Given the description of an element on the screen output the (x, y) to click on. 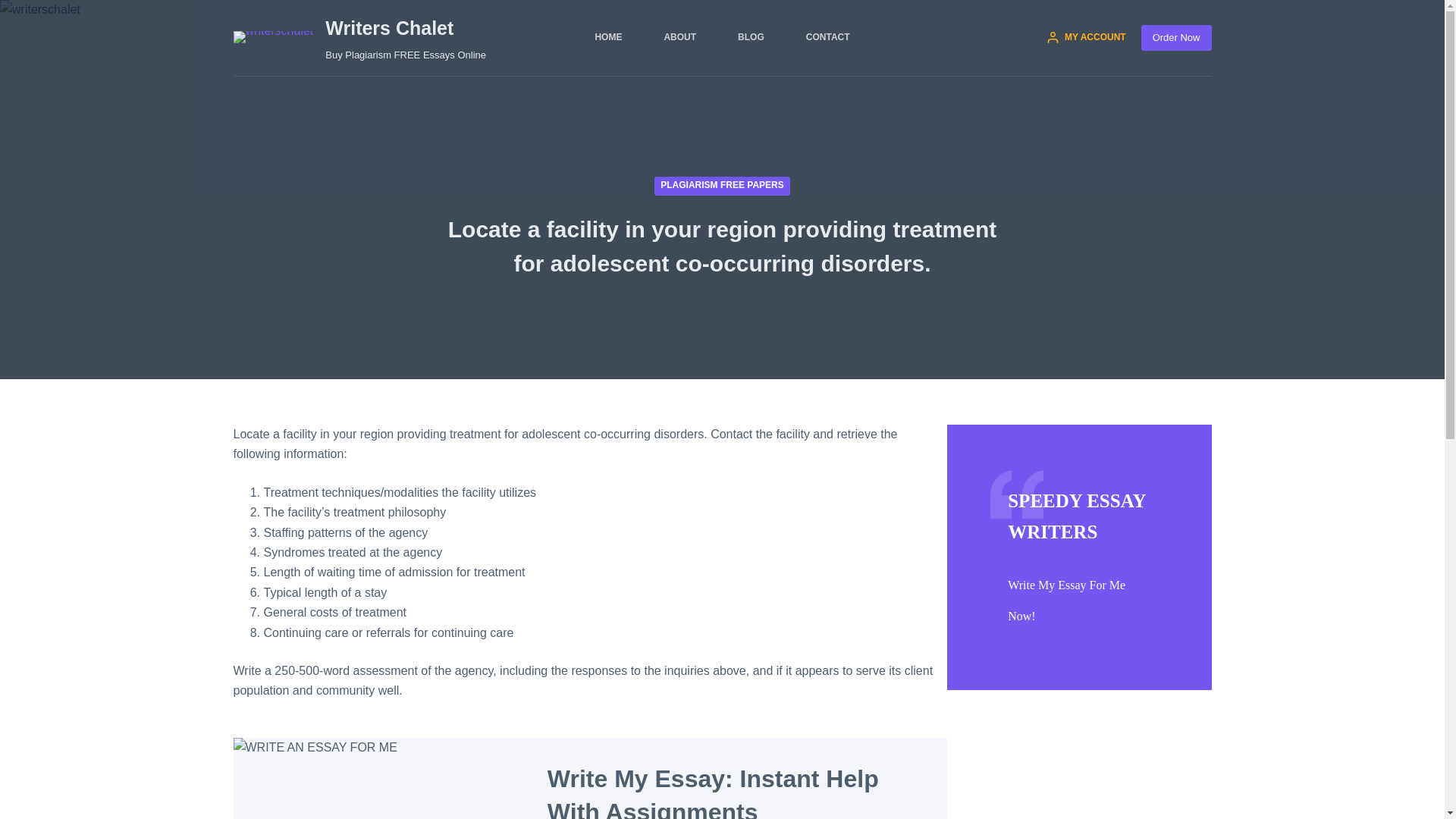
Skip to content (15, 7)
ABOUT (680, 38)
Writers Chalet (388, 27)
Order Now (1176, 37)
BLOG (751, 38)
MY ACCOUNT (1085, 37)
PLAGIARISM FREE PAPERS (721, 185)
CONTACT (827, 38)
HOME (608, 38)
